Given the description of an element on the screen output the (x, y) to click on. 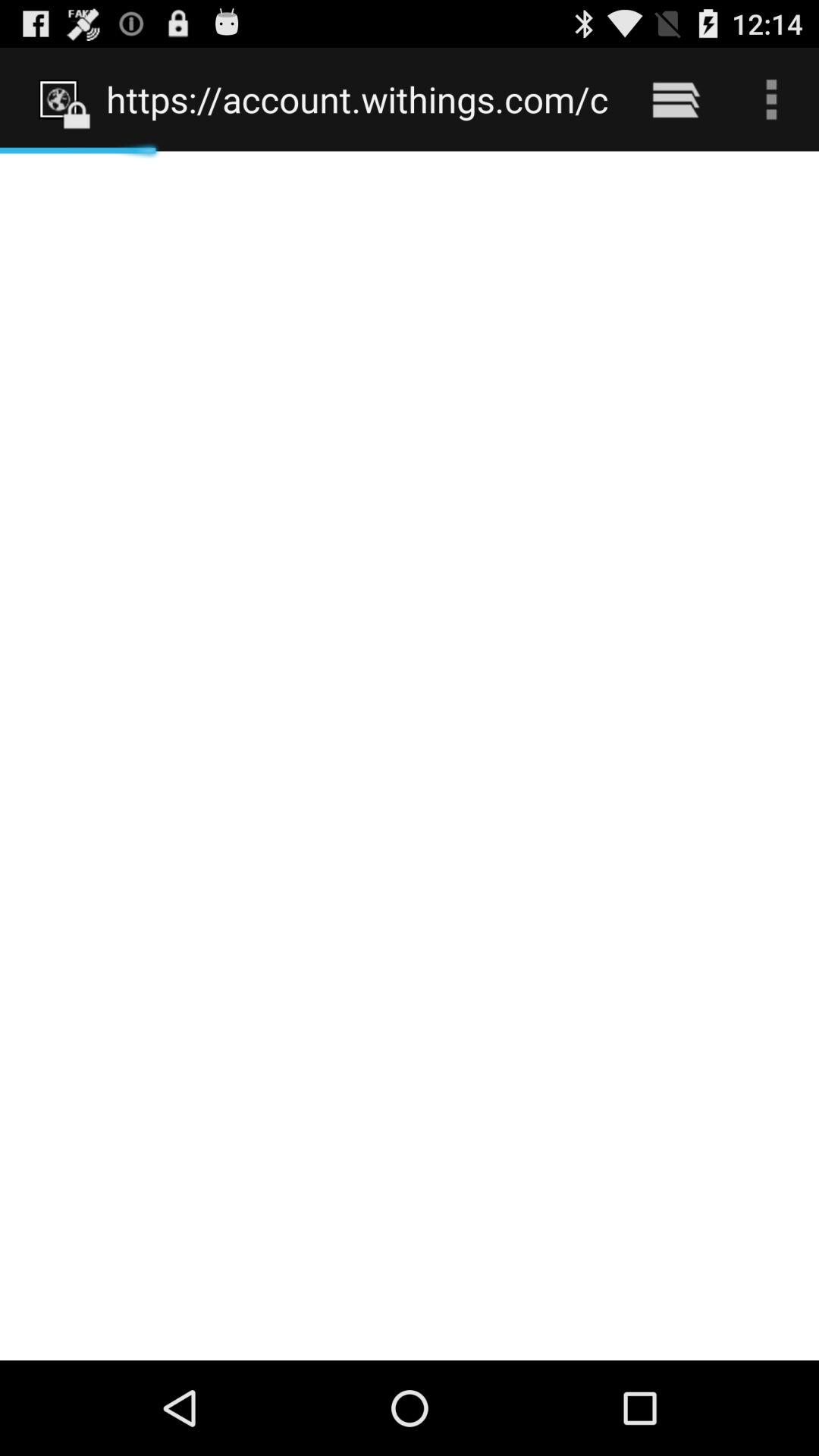
choose https account withings icon (357, 99)
